Given the description of an element on the screen output the (x, y) to click on. 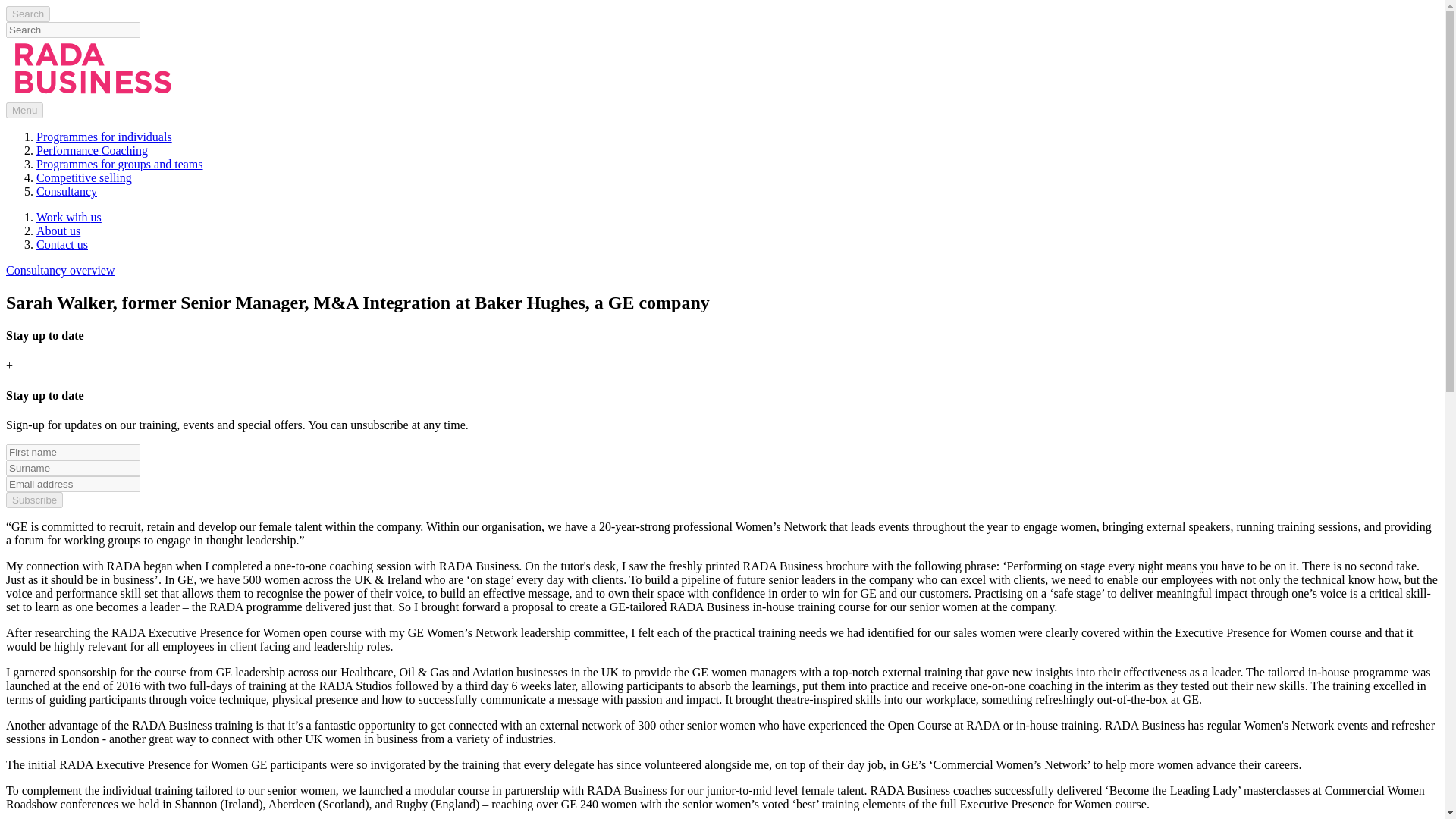
Menu (24, 109)
Competitive selling (84, 177)
Subscribe (33, 499)
Work with us (68, 216)
Programmes for groups and teams (119, 164)
About us (58, 230)
Consultancy overview (60, 269)
Performance Coaching (92, 150)
Contact us (61, 244)
Programmes for individuals (103, 136)
